Given the description of an element on the screen output the (x, y) to click on. 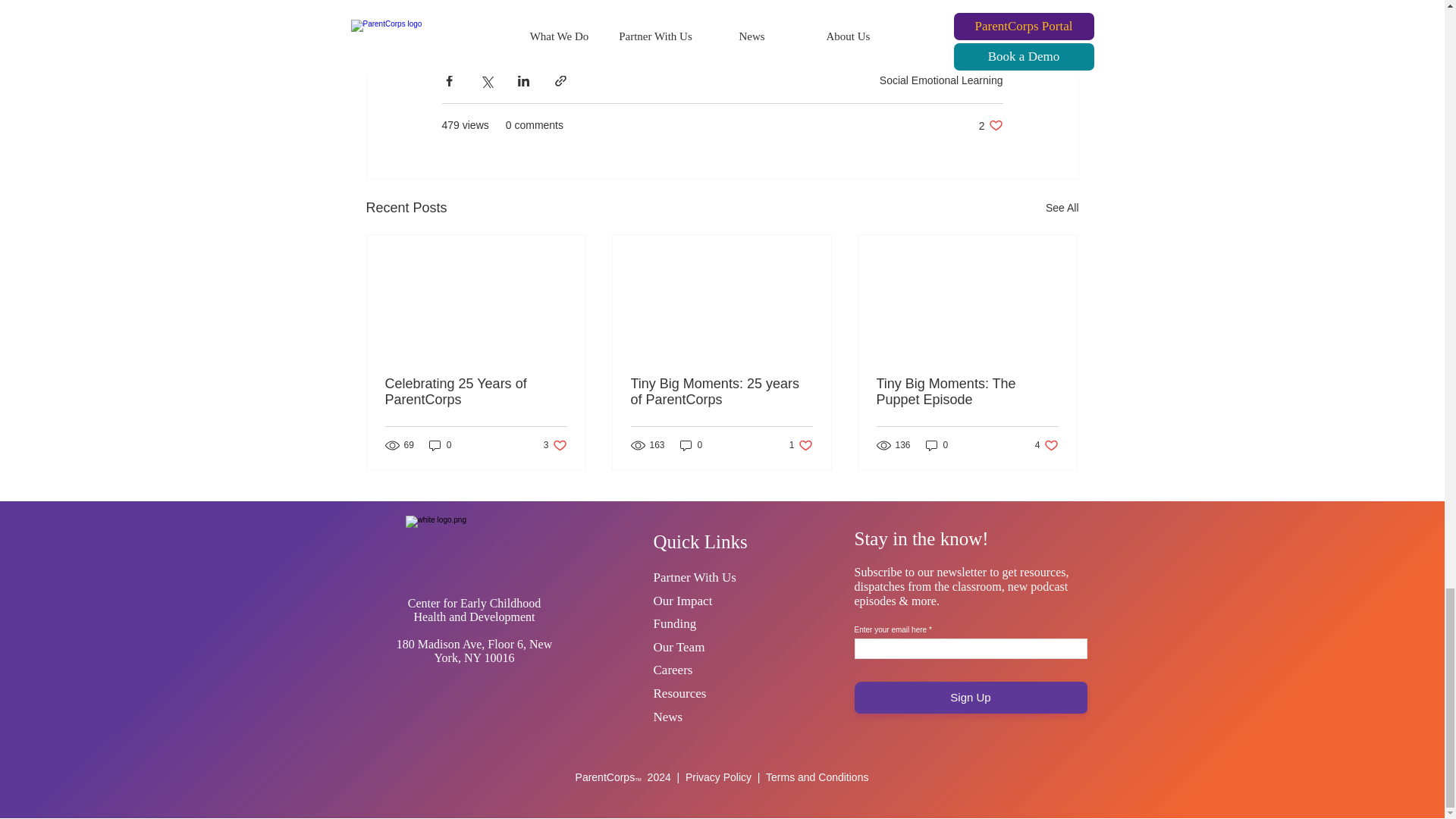
Social Emotional Learning (941, 80)
social-emotional well being (595, 22)
caregivers (711, 22)
parentcorps (478, 22)
Celebrating 25 Years of ParentCorps (476, 391)
teachers (780, 22)
See All (1061, 208)
0 (440, 445)
